Given the description of an element on the screen output the (x, y) to click on. 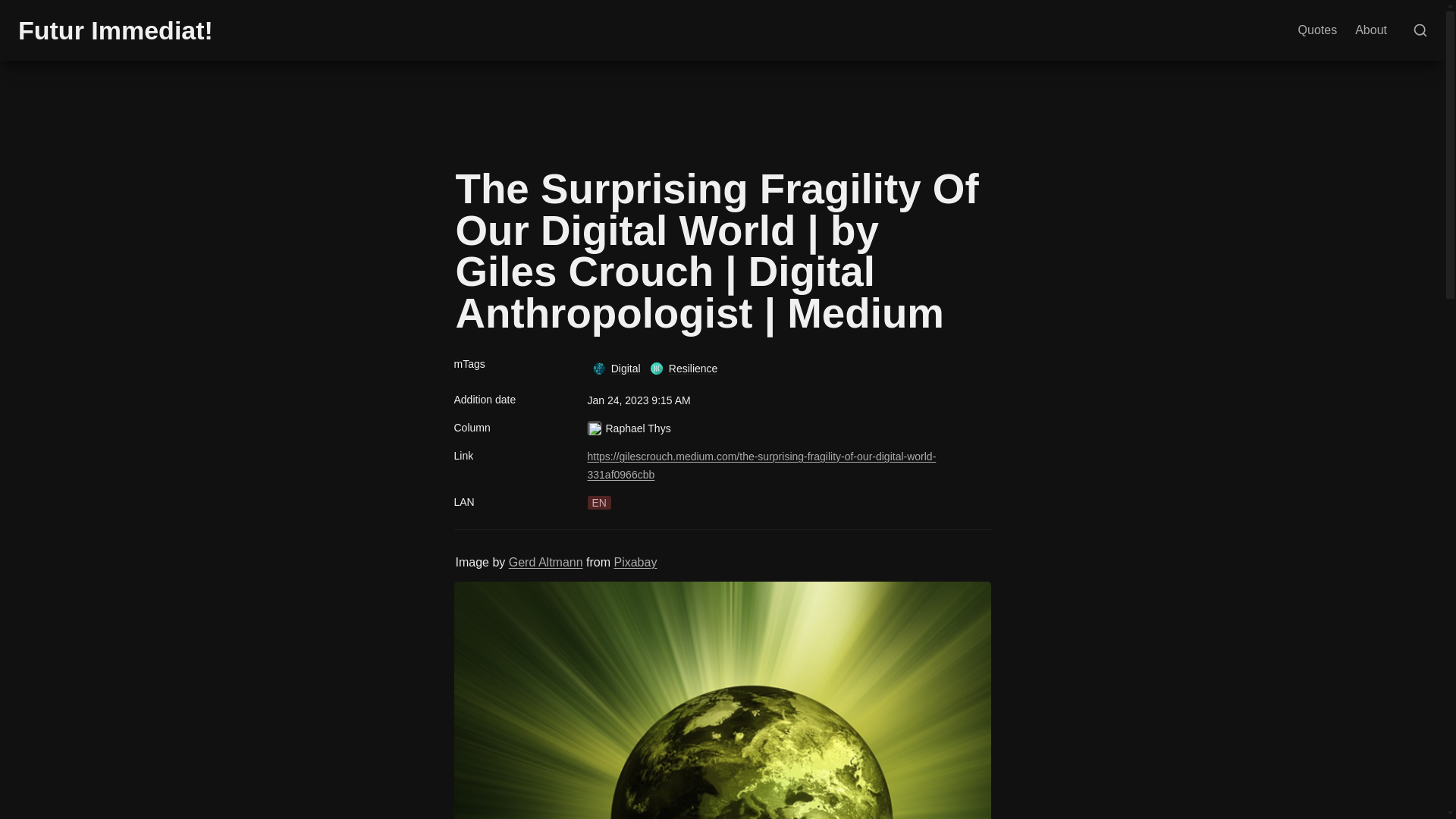
Gerd Altmann (545, 562)
Pixabay (634, 562)
About (1370, 30)
Resilience (683, 368)
Futur Immediat! (115, 30)
Quotes (1317, 30)
Digital (615, 368)
